Given the description of an element on the screen output the (x, y) to click on. 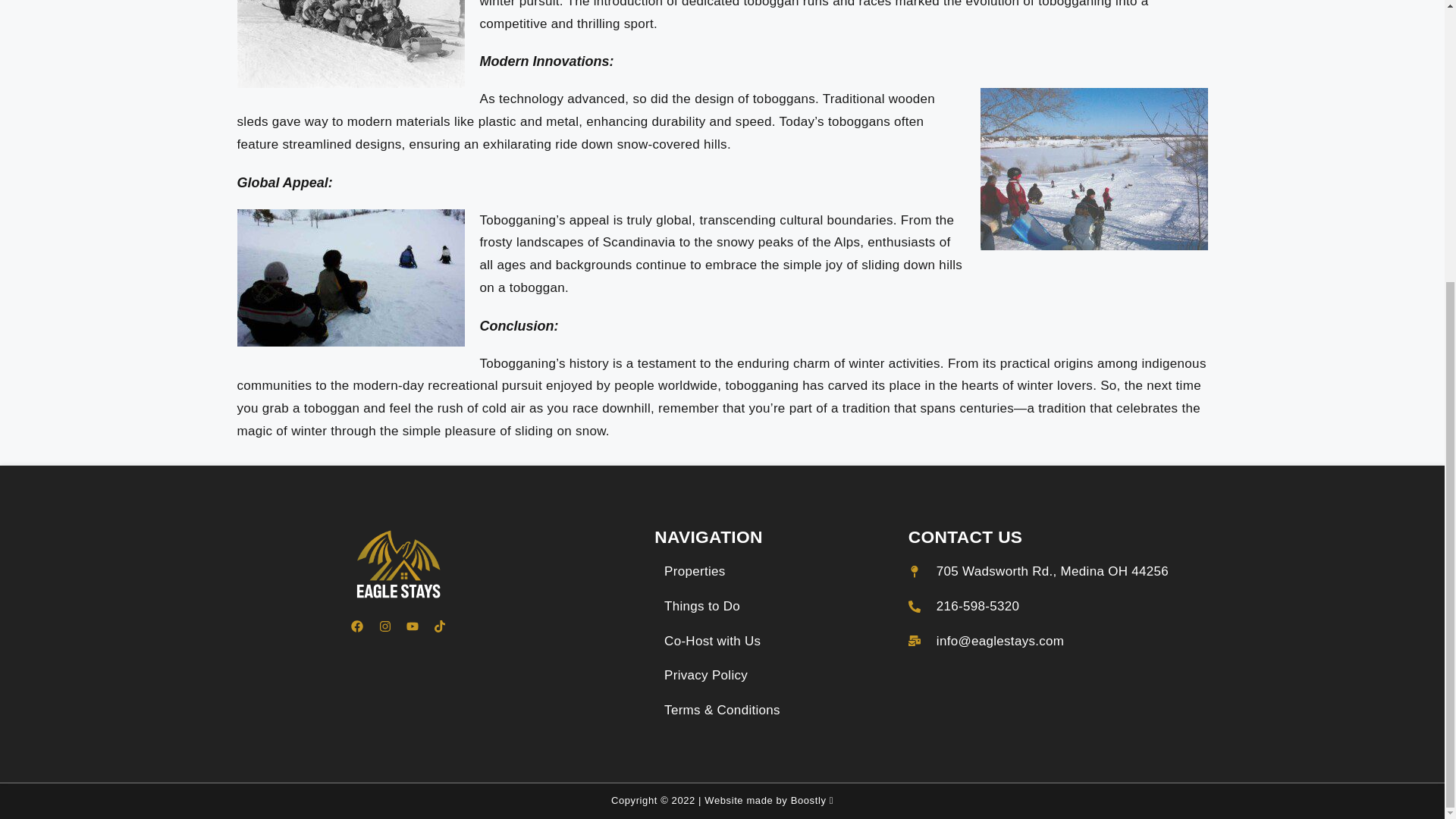
Co-Host with Us (711, 640)
Properties (694, 571)
Things to Do (701, 606)
Privacy Policy (705, 675)
216-598-5320 (963, 606)
logo-black-trans (397, 563)
